Given the description of an element on the screen output the (x, y) to click on. 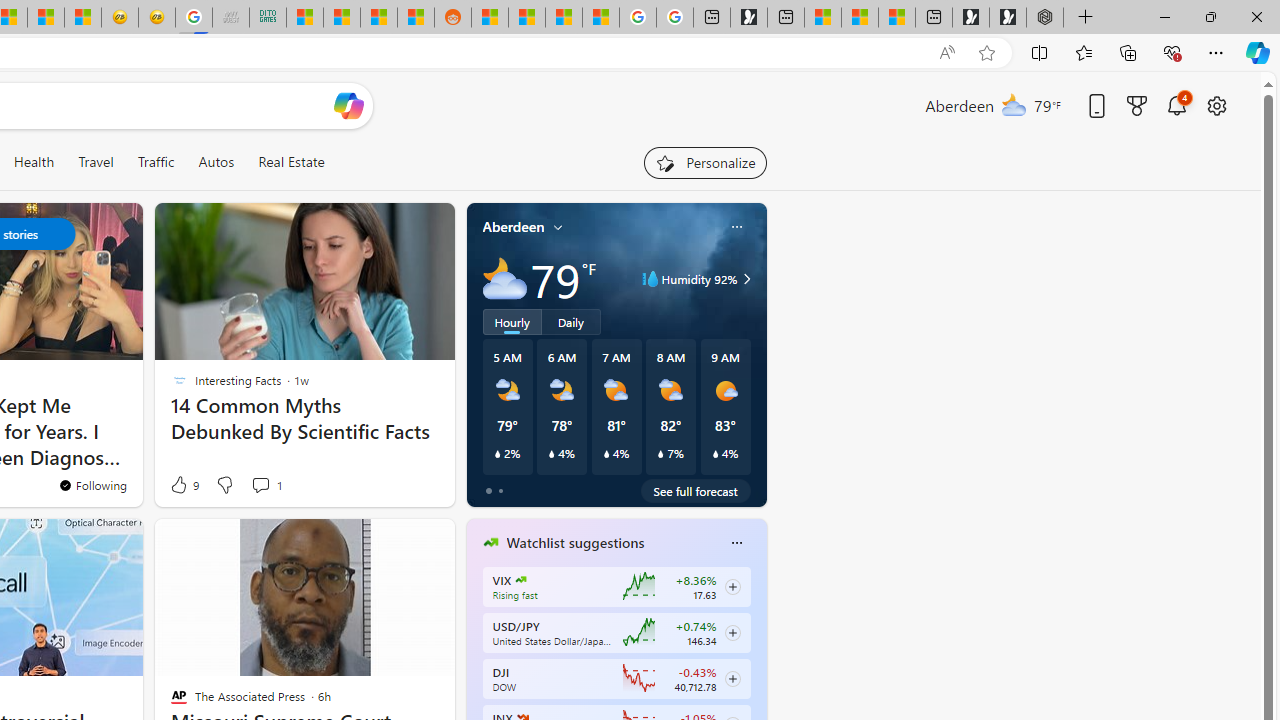
Watchlist suggestions (575, 543)
My location (558, 227)
